Given the description of an element on the screen output the (x, y) to click on. 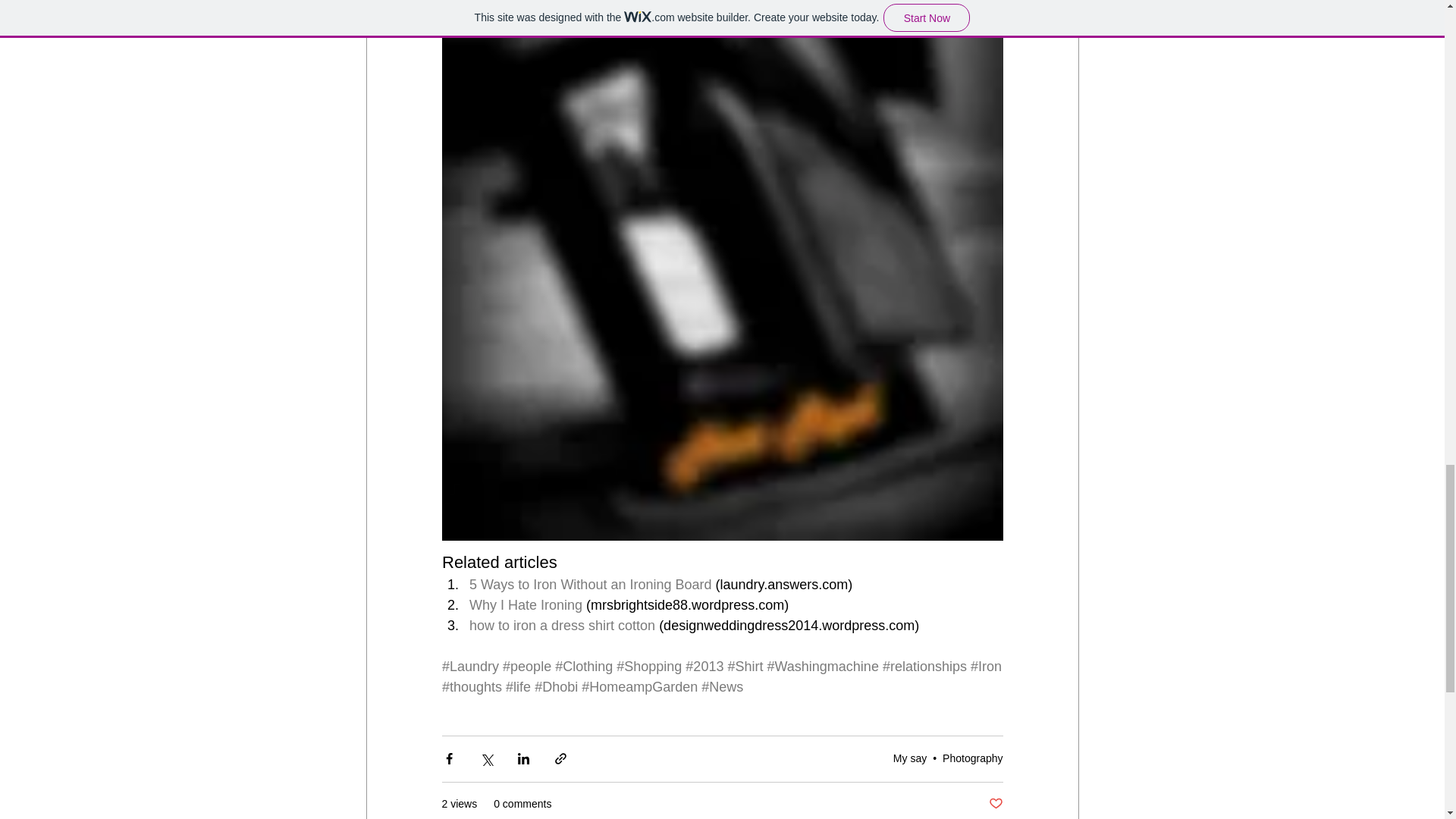
5 Ways to Iron Without an Ironing Board (589, 584)
how to iron a dress shirt cotton (560, 625)
My say (909, 758)
Why I Hate Ironing (524, 604)
